Given the description of an element on the screen output the (x, y) to click on. 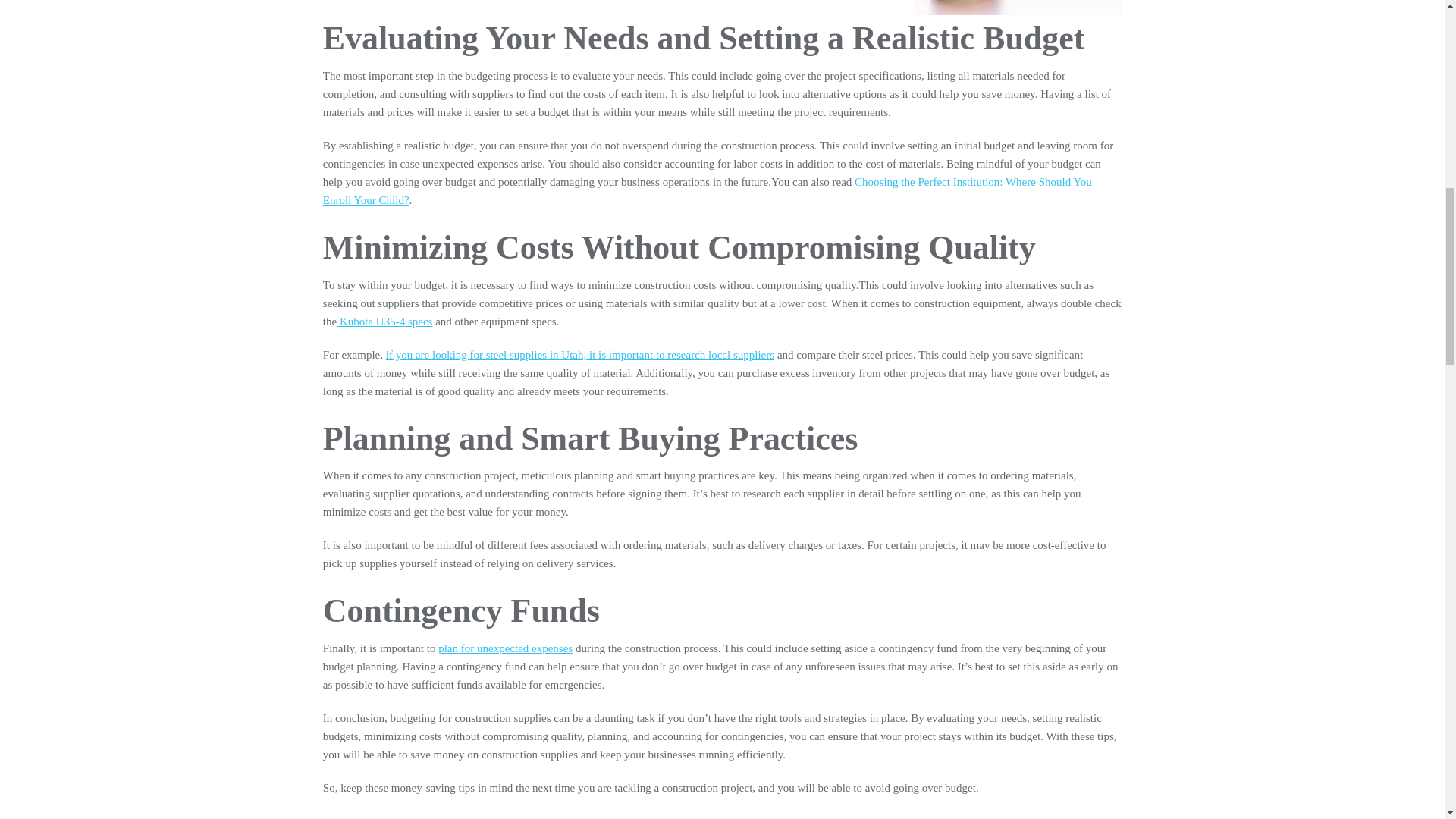
Kubota U35-4 specs (384, 321)
plan for unexpected expenses (505, 648)
